Given the description of an element on the screen output the (x, y) to click on. 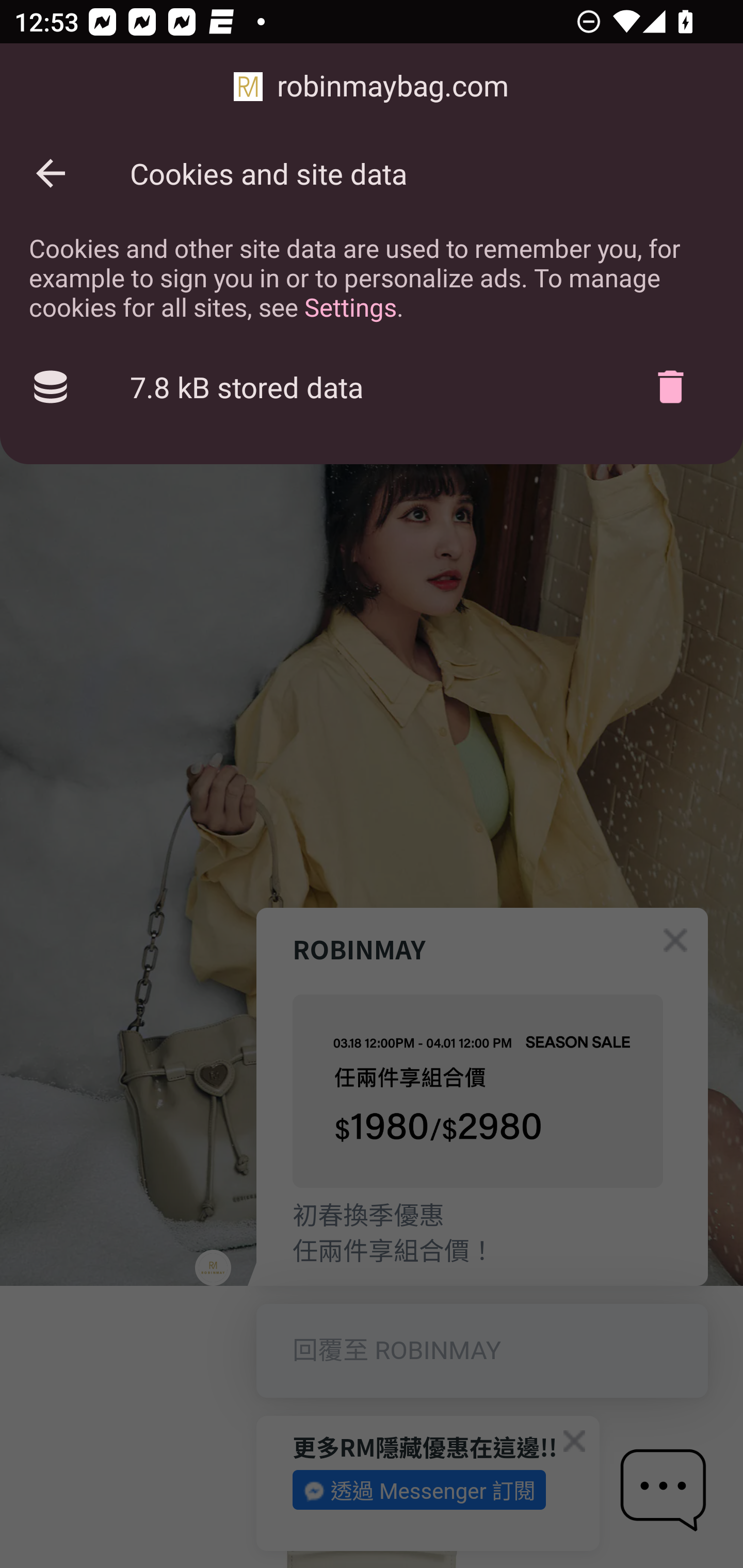
robinmaybag.com (371, 86)
Back (50, 173)
7.8 kB stored data Delete cookies? (371, 386)
